Given the description of an element on the screen output the (x, y) to click on. 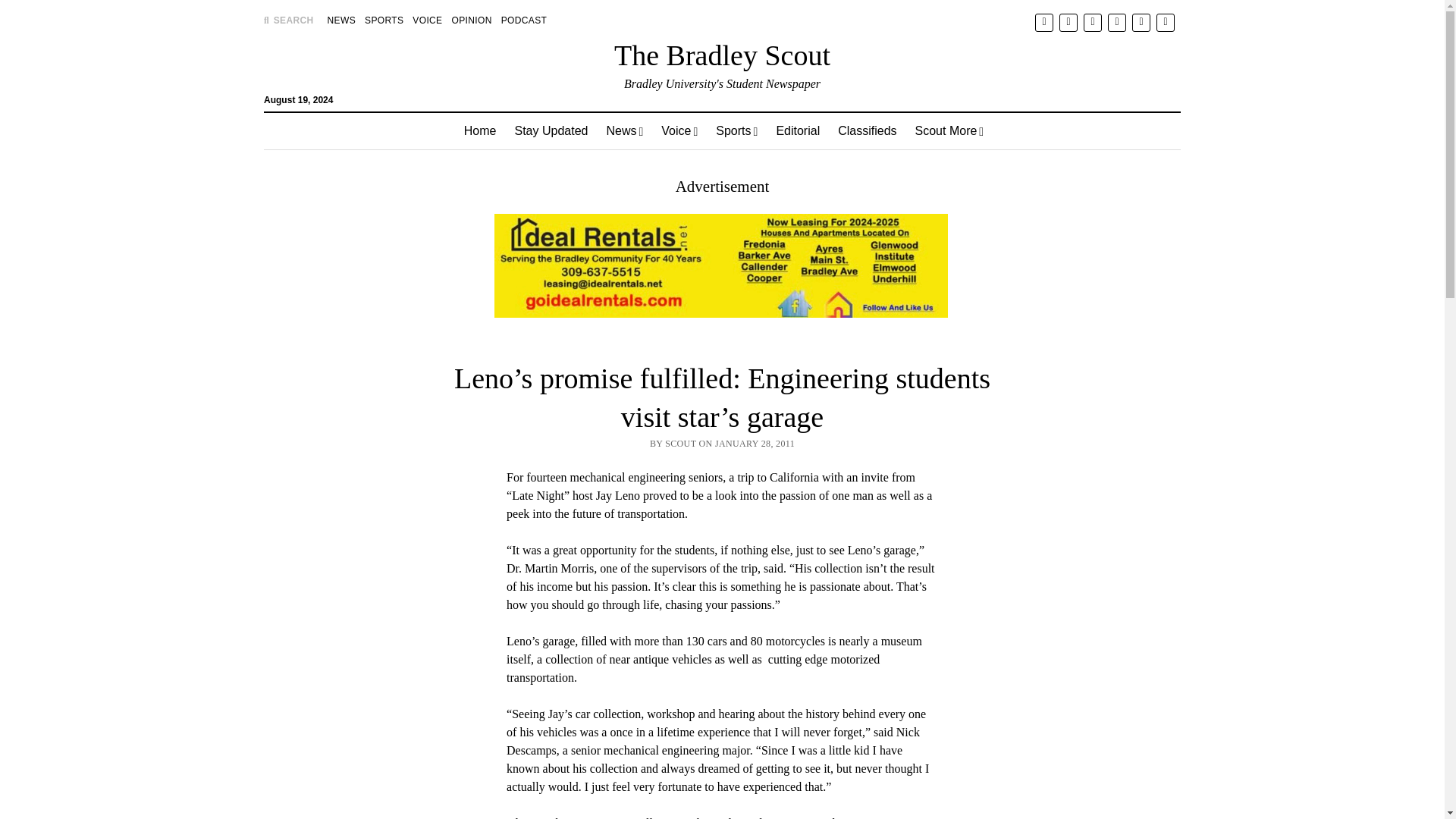
VOICE (427, 20)
Classifieds (866, 131)
The Bradley Scout (721, 55)
Search (945, 129)
Editorial (797, 131)
Home (479, 131)
Stay Updated (550, 131)
Sports (736, 131)
SPORTS (384, 20)
OPINION (471, 20)
